Given the description of an element on the screen output the (x, y) to click on. 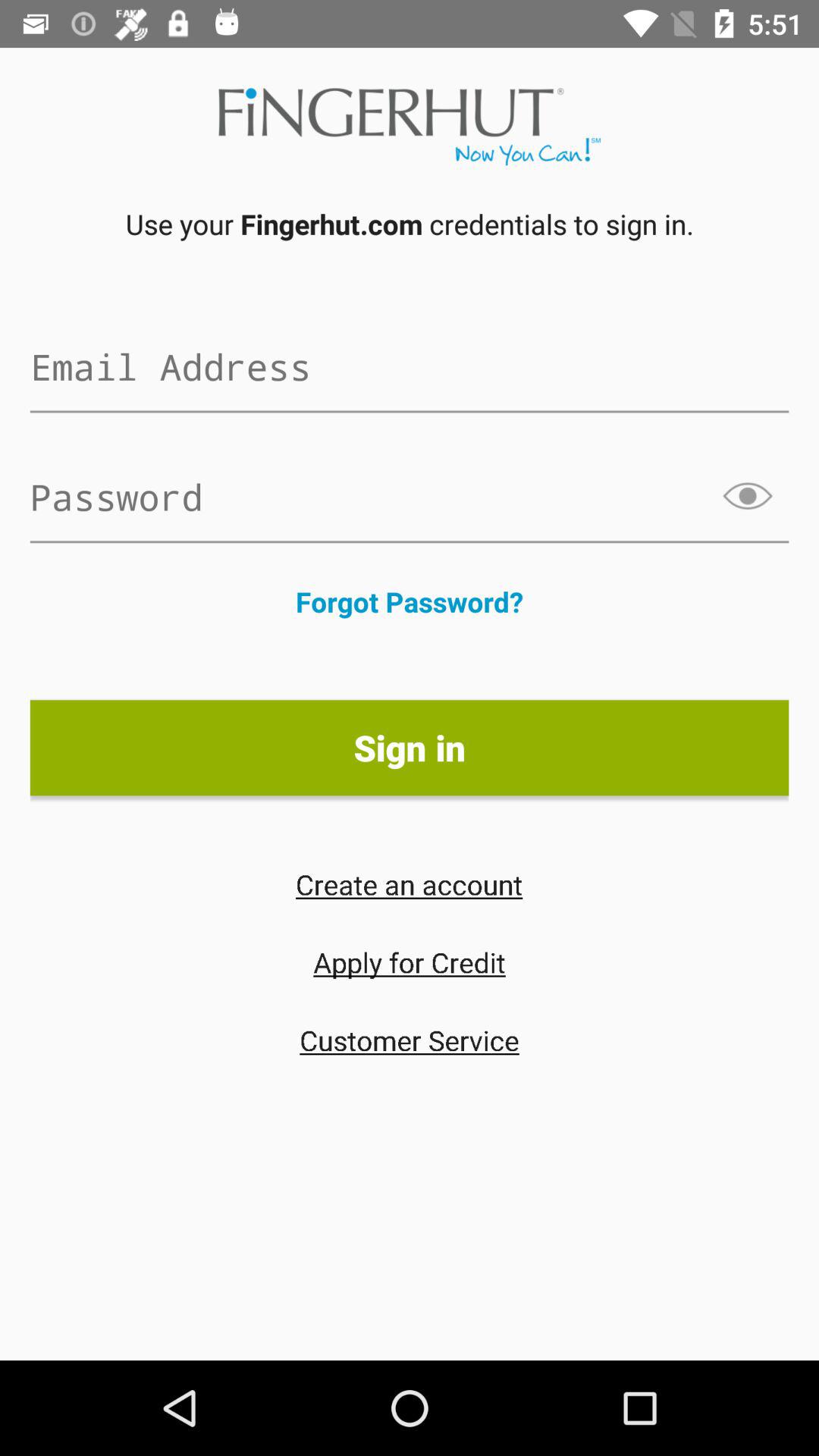
tap create an account item (408, 884)
